Given the description of an element on the screen output the (x, y) to click on. 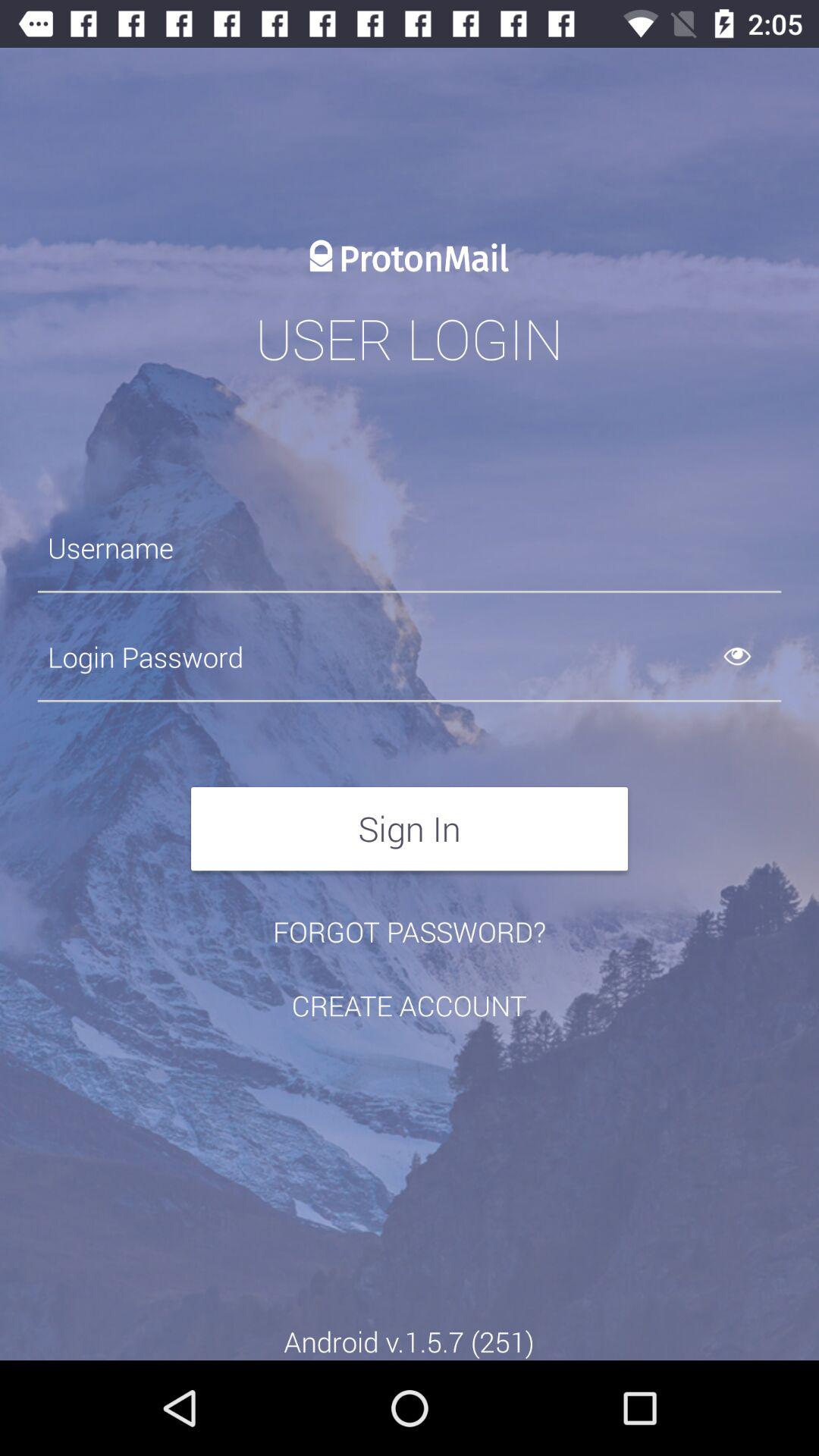
scroll until forgot password? icon (409, 931)
